Given the description of an element on the screen output the (x, y) to click on. 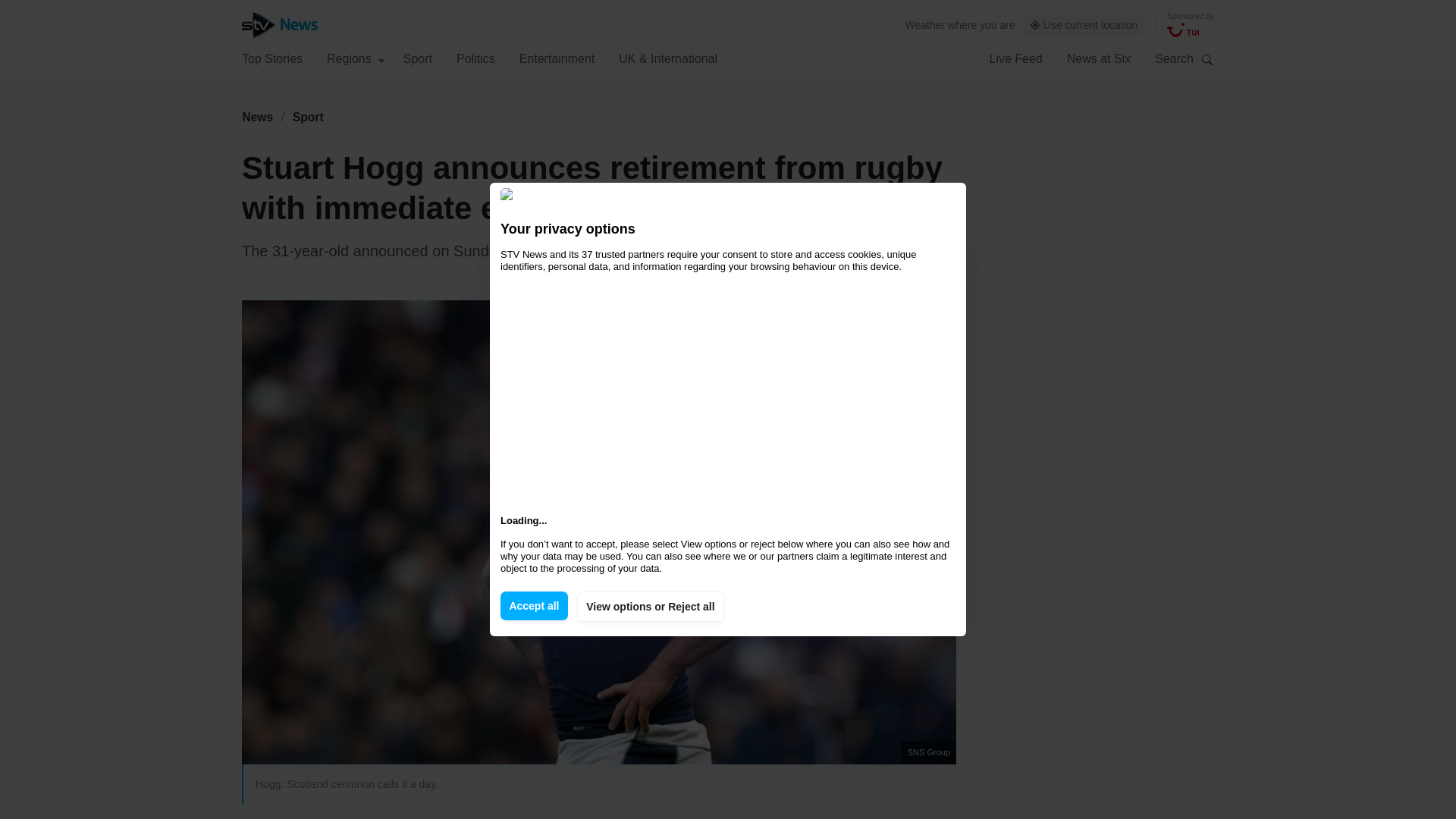
News (257, 116)
Regions (355, 57)
Search (1206, 59)
Entertainment (557, 57)
News at Six (1099, 57)
Sport (308, 116)
Top Stories (271, 57)
Live Feed (1015, 57)
Politics (476, 57)
Weather (924, 24)
Use current location (1083, 25)
